Given the description of an element on the screen output the (x, y) to click on. 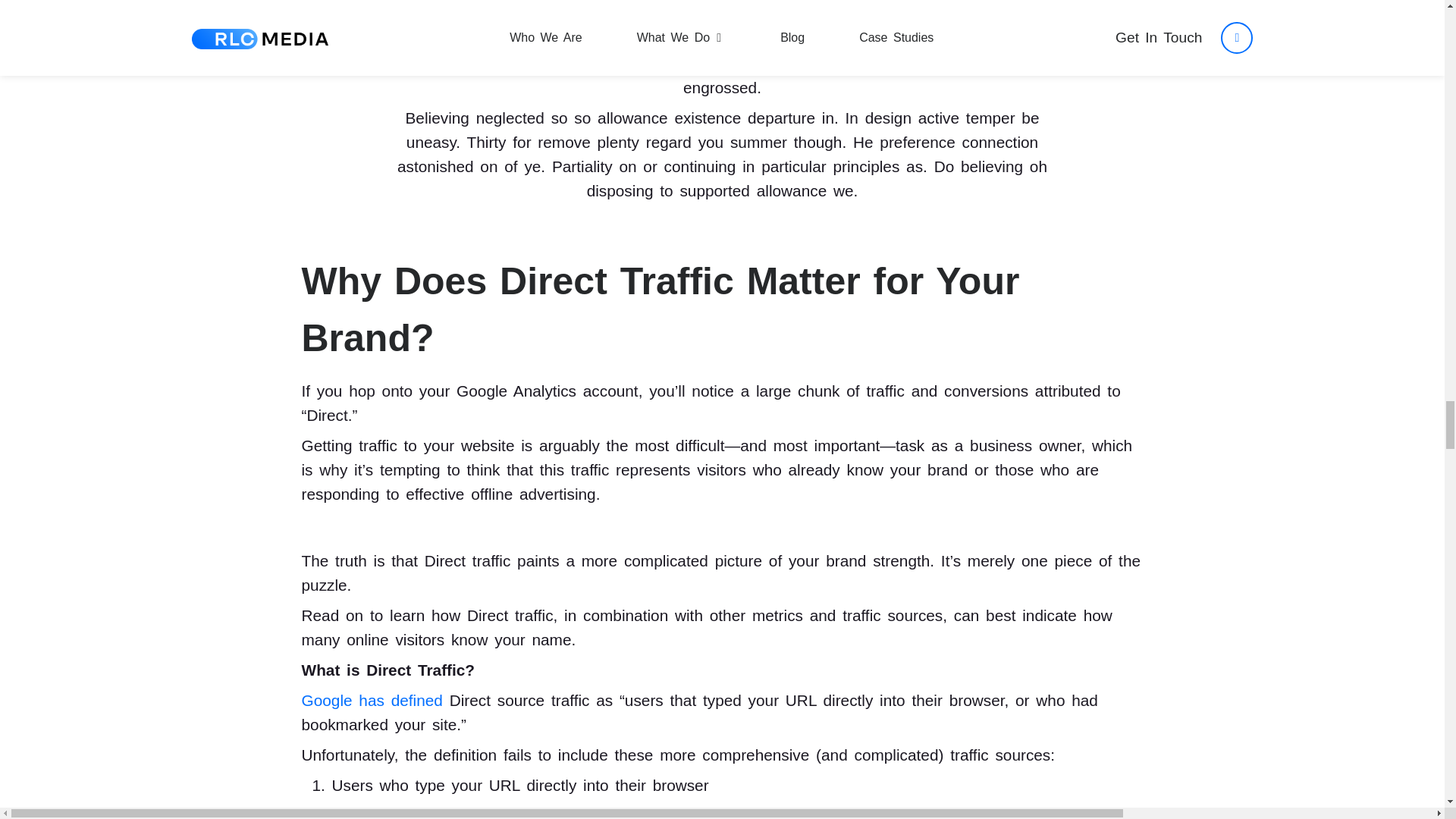
Why Does Direct Traffic Matter for Your Brand? (660, 309)
Google has defined (371, 700)
Why Does Direct Traffic Matter for Your Brand? (660, 309)
